Given the description of an element on the screen output the (x, y) to click on. 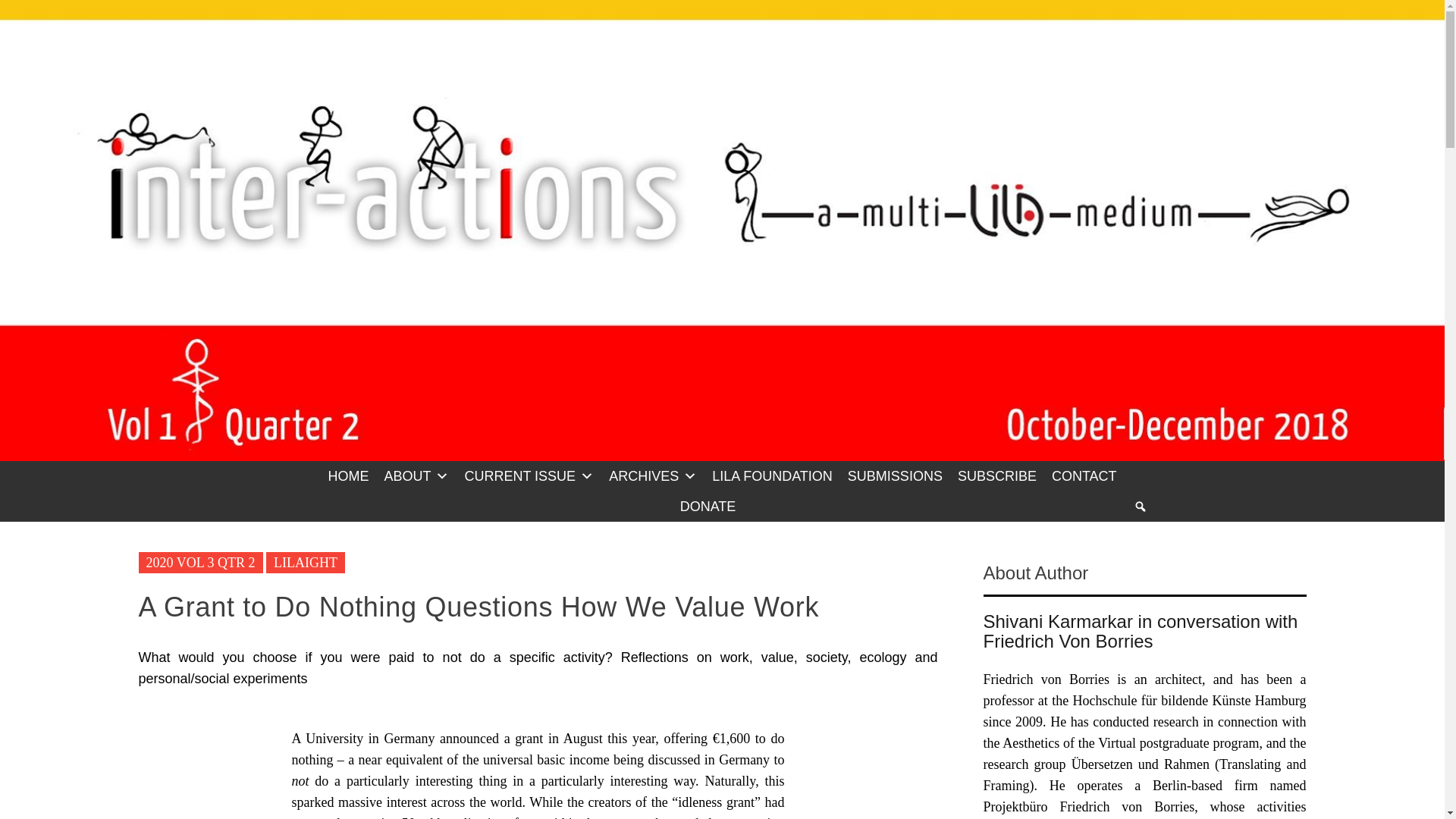
HOME (347, 476)
Search (816, 554)
SUBMISSIONS (895, 476)
SUBSCRIBE (996, 476)
CURRENT ISSUE (529, 476)
ABOUT (416, 476)
ARCHIVES (652, 476)
CONTACT (1083, 476)
INTER-ACTIONS (427, 32)
DONATE (708, 506)
